Given the description of an element on the screen output the (x, y) to click on. 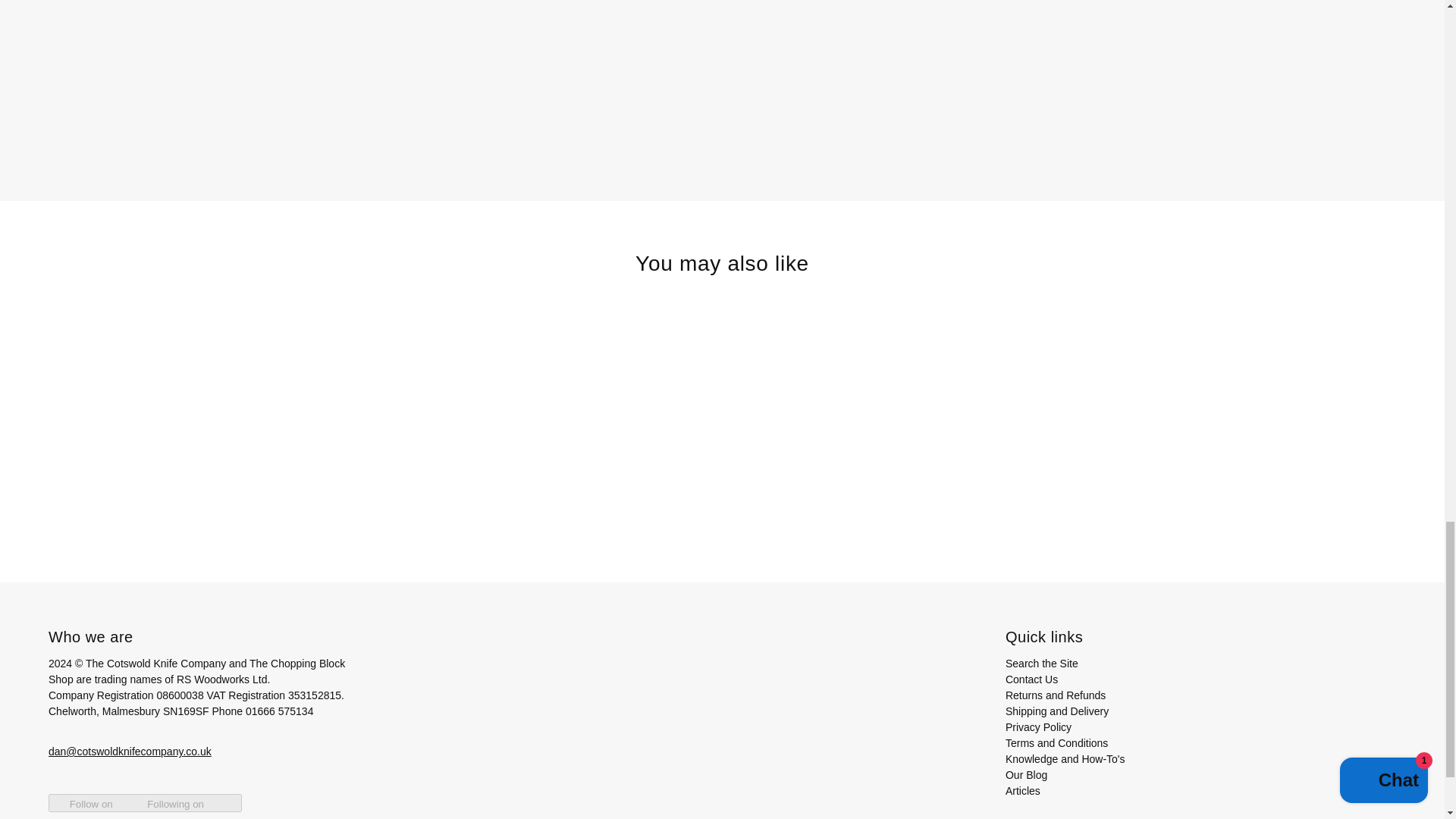
Shipping and Delivery (1057, 711)
Knowledge and How-To's (1065, 758)
Terms and Conditions (1057, 743)
Our Blog (1026, 775)
Privacy Policy (1038, 727)
Contact Us (1032, 679)
Articles (1023, 790)
Returns and Refunds (1055, 695)
